Given the description of an element on the screen output the (x, y) to click on. 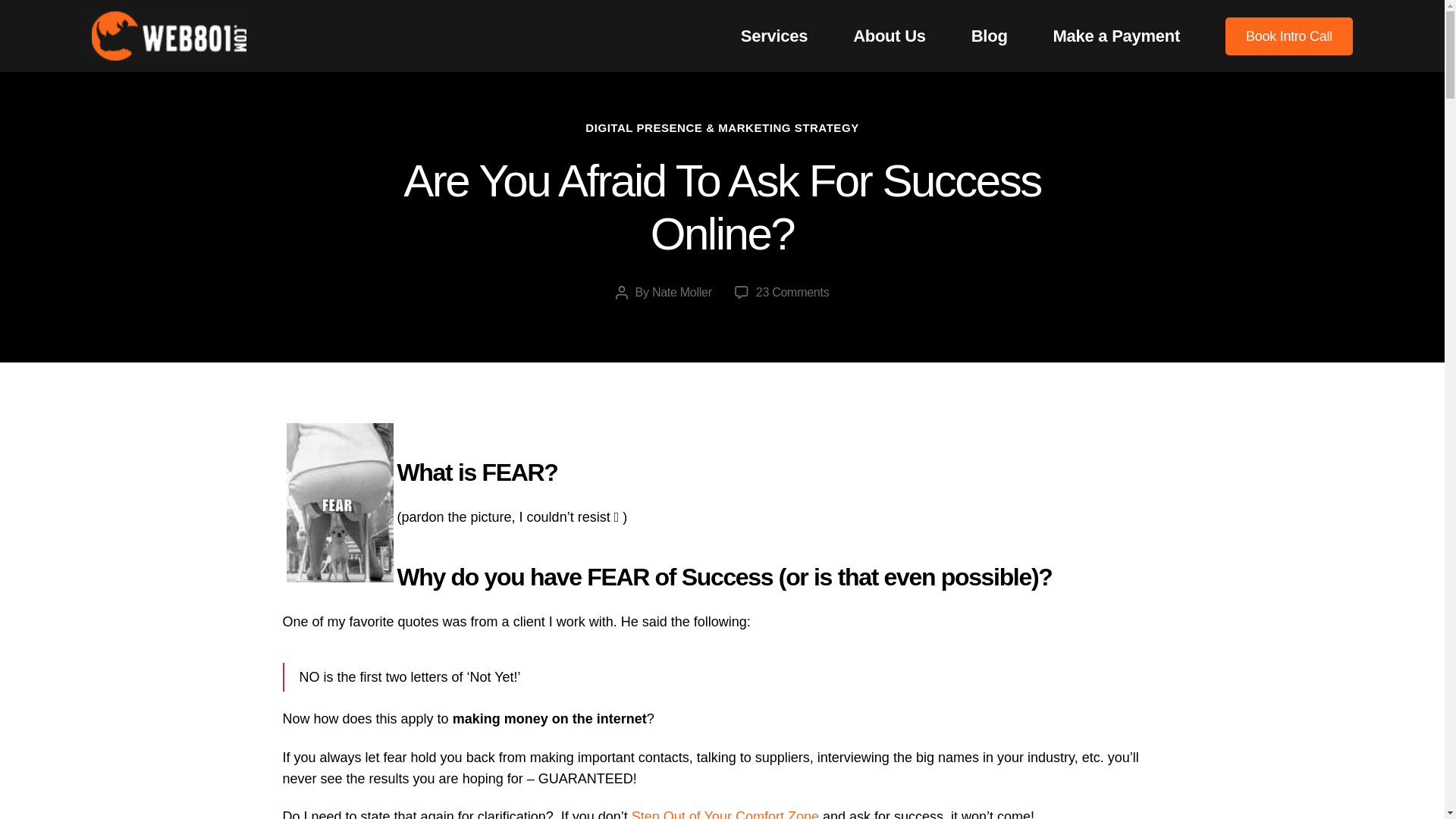
About Us (889, 36)
Make a Payment (1115, 36)
Blog (989, 36)
Book Intro Call (1288, 35)
Nate Moller (681, 291)
stepping out of your comfort zone (792, 291)
Services (724, 814)
fear-of-failure-when-starting-a-business (774, 36)
Step Out of Your Comfort Zone (339, 502)
